Given the description of an element on the screen output the (x, y) to click on. 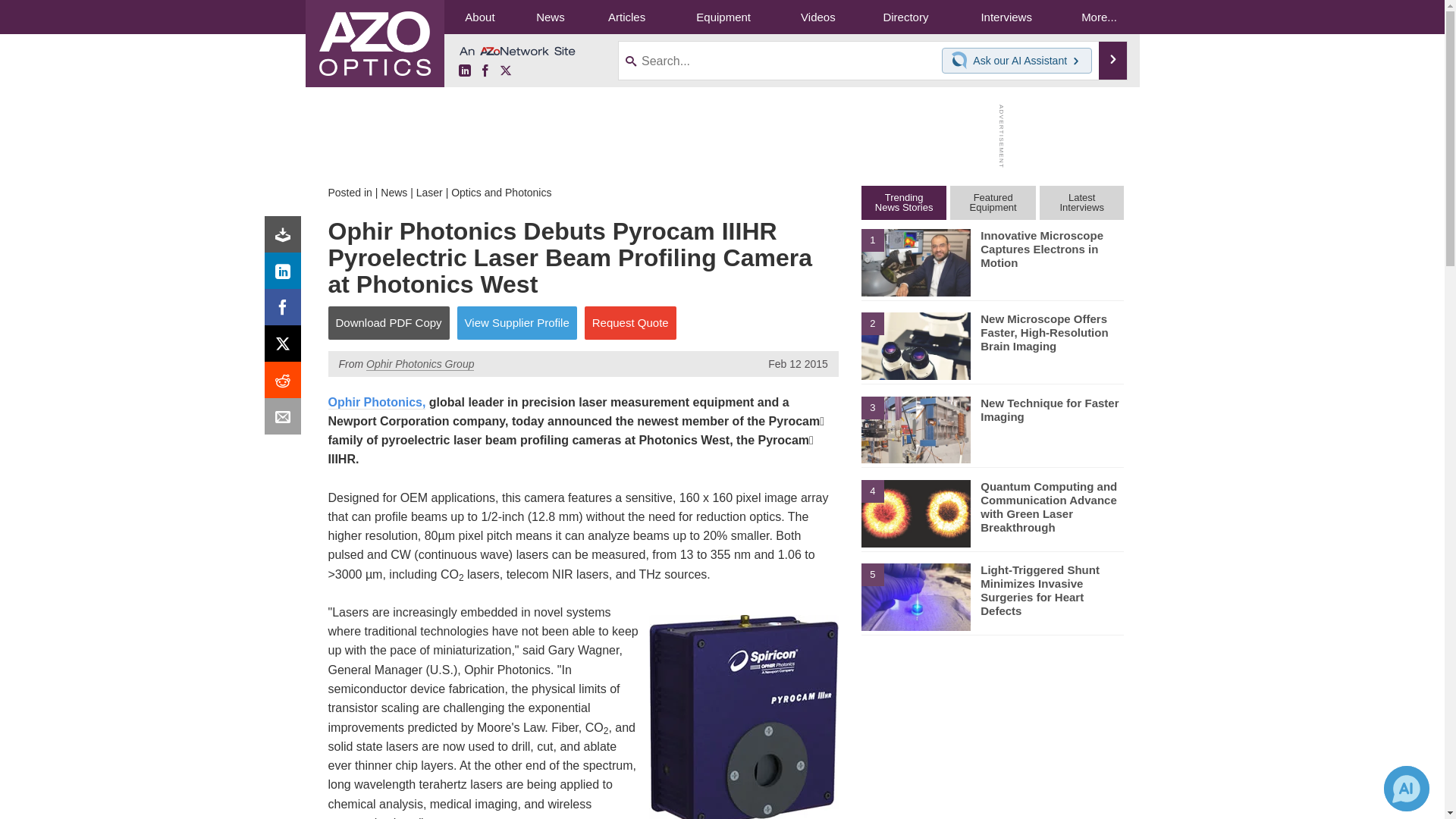
News (550, 17)
Directory (905, 17)
Laser (429, 192)
News (393, 192)
X (505, 71)
LinkedIn (464, 71)
Chat with our AI Assistant (962, 60)
Facebook (285, 311)
Interviews (1006, 17)
